Given the description of an element on the screen output the (x, y) to click on. 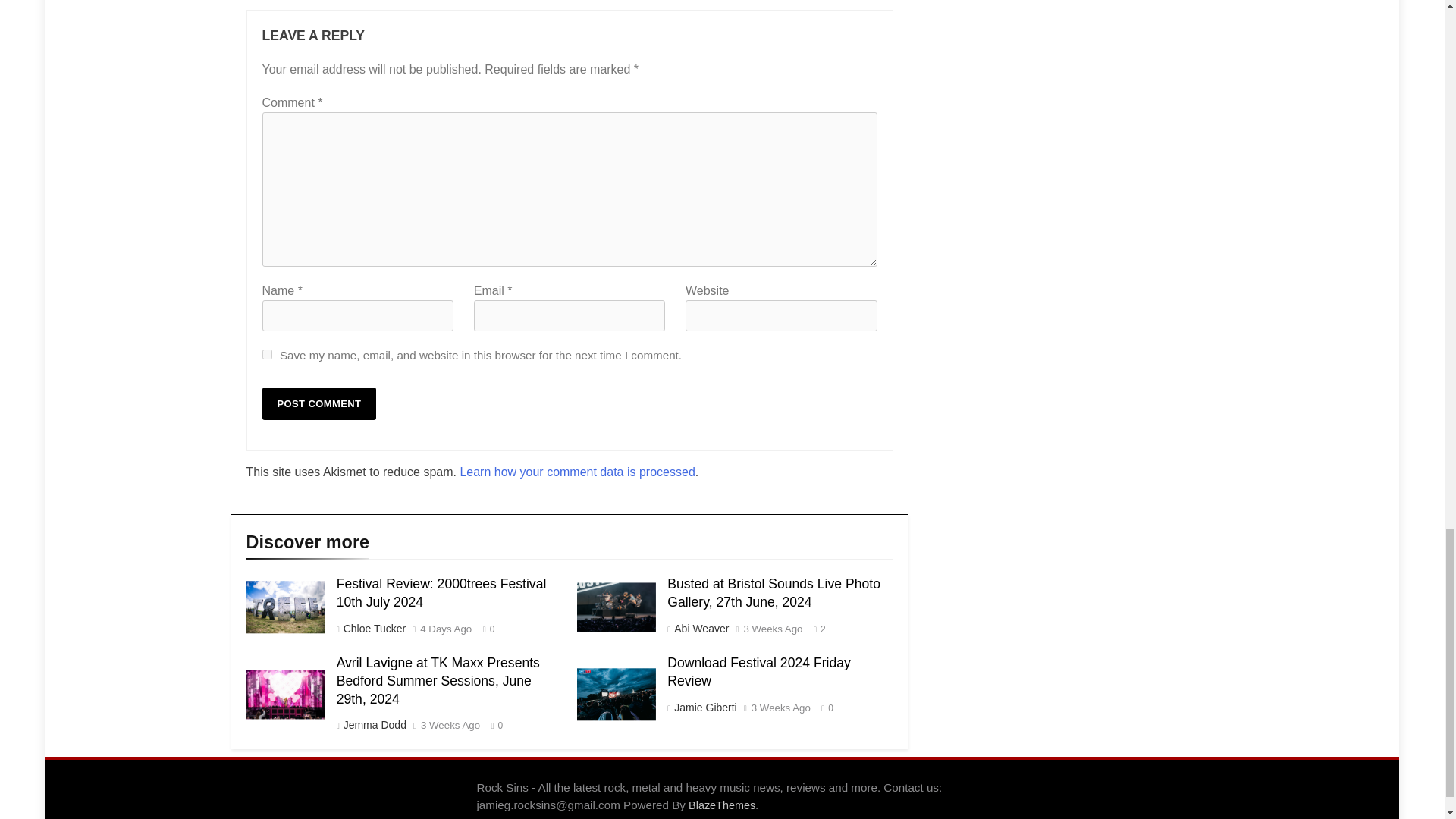
Learn how your comment data is processed (577, 472)
Post Comment (319, 403)
Post Comment (319, 403)
yes (267, 354)
